Given the description of an element on the screen output the (x, y) to click on. 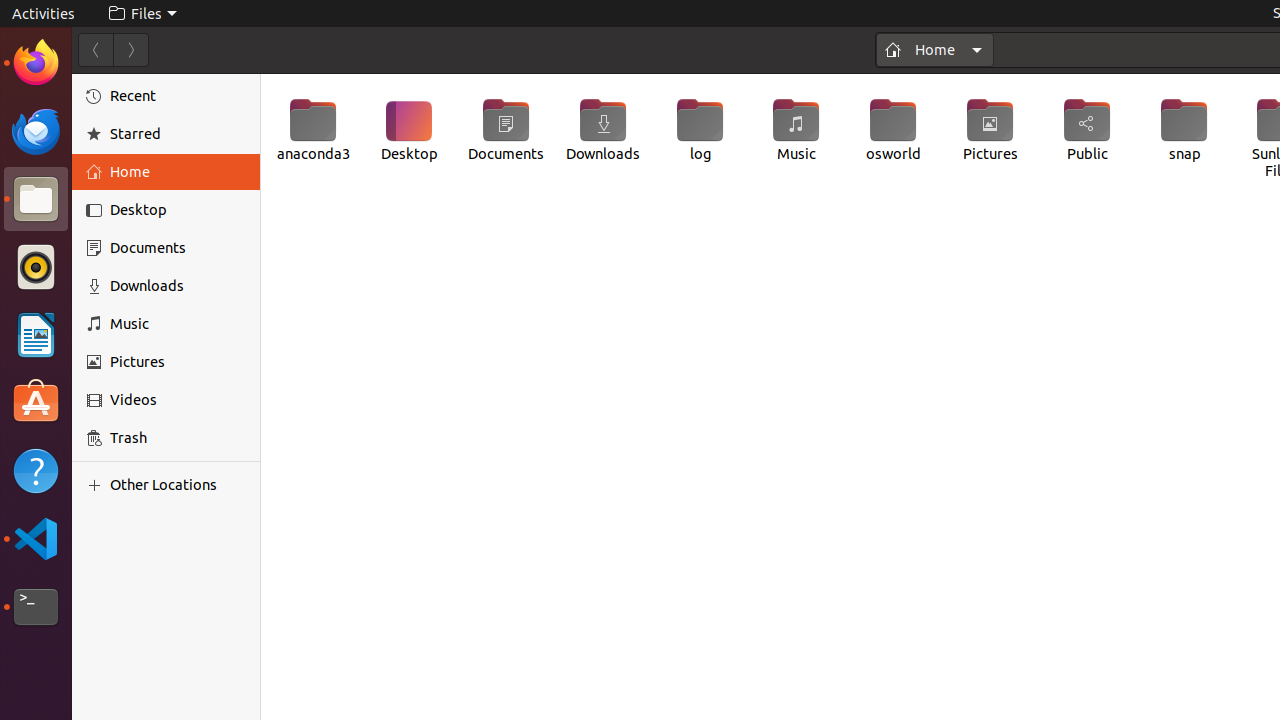
Other Locations Element type: label (178, 485)
Starred Element type: label (178, 134)
Music Element type: canvas (796, 130)
Documents Element type: canvas (506, 130)
